Given the description of an element on the screen output the (x, y) to click on. 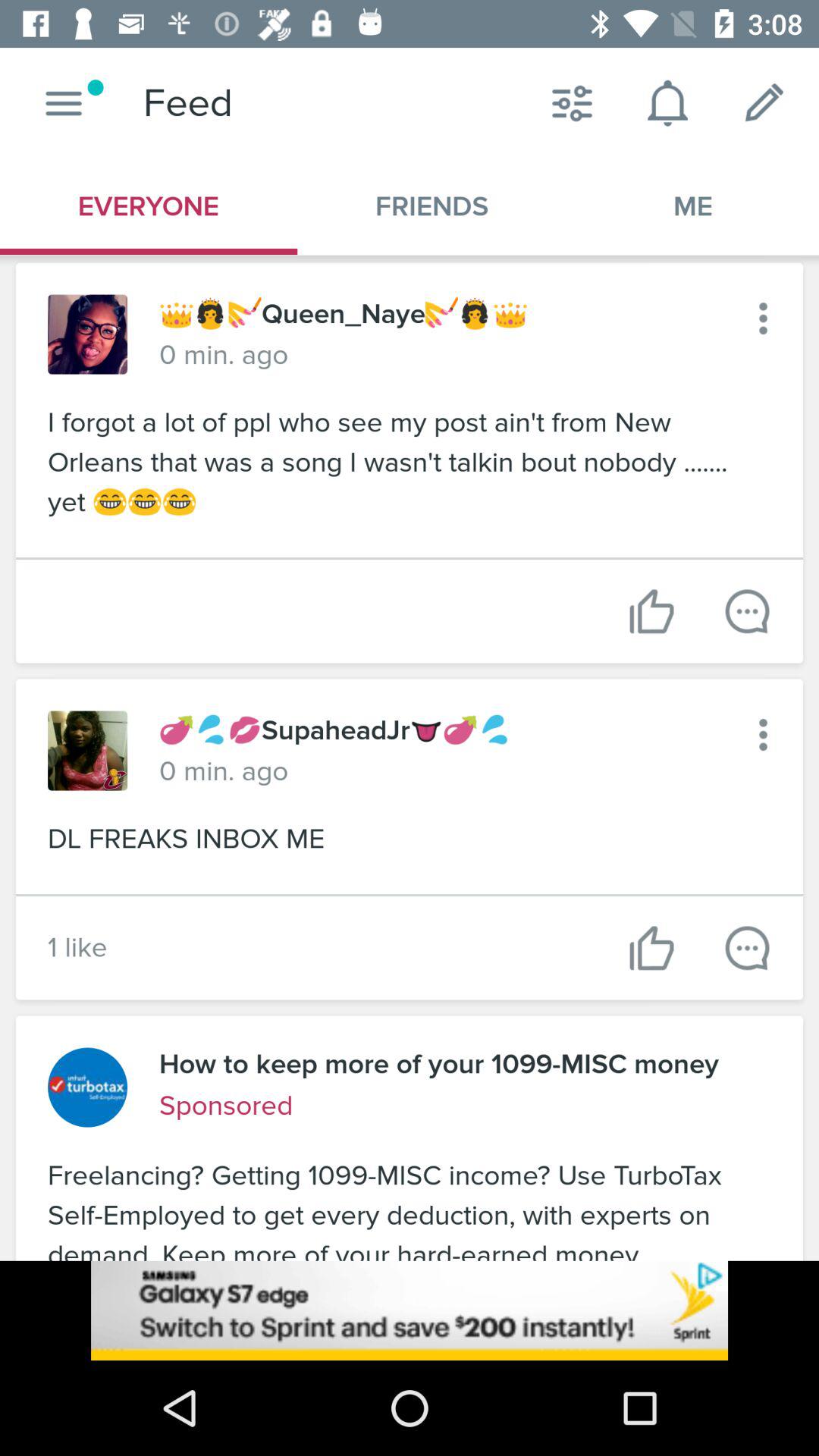
like the commend (651, 611)
